Given the description of an element on the screen output the (x, y) to click on. 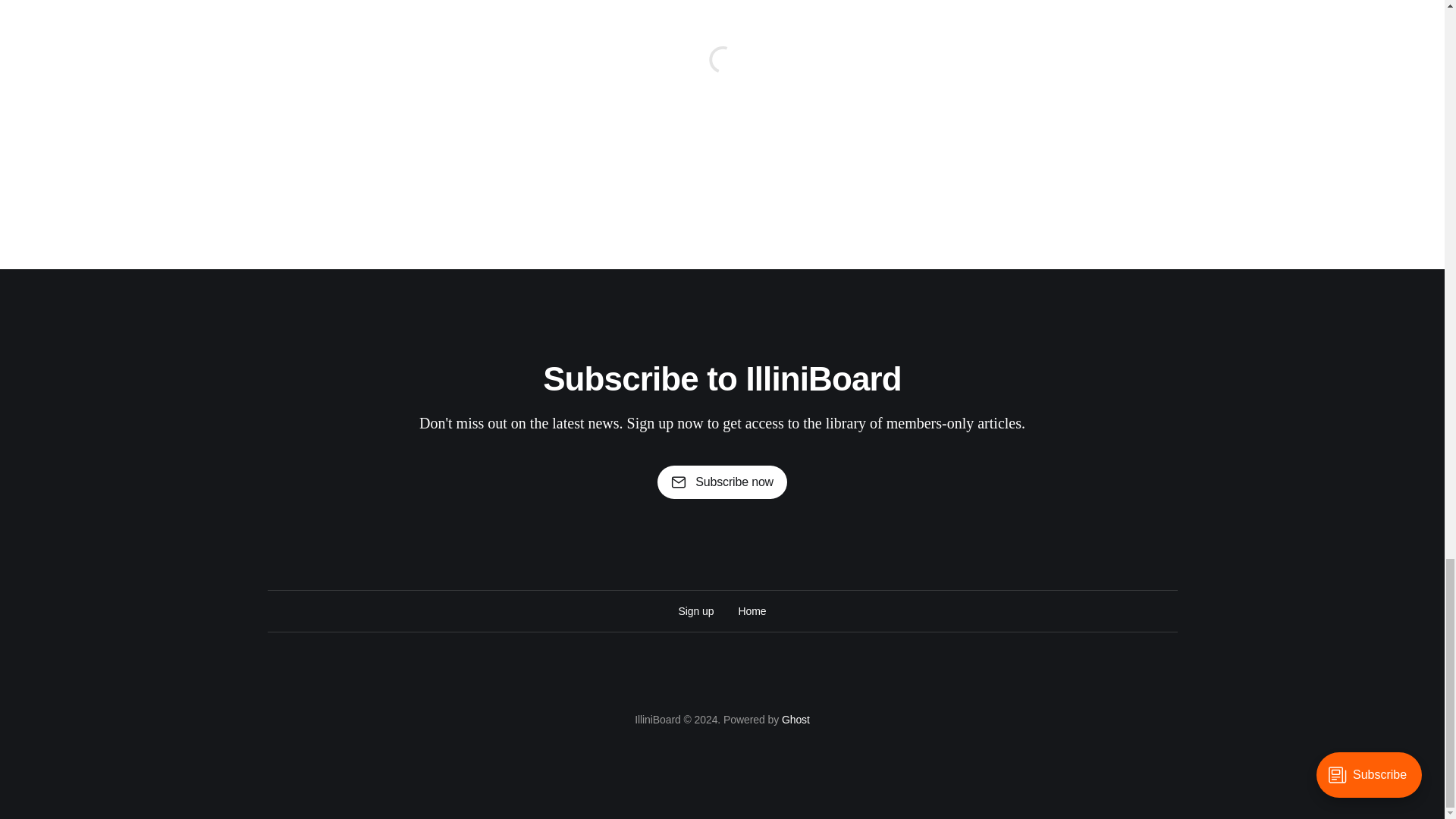
comments-frame (721, 77)
Home (751, 610)
Ghost (795, 719)
Subscribe now (722, 482)
Sign up (696, 610)
